Given the description of an element on the screen output the (x, y) to click on. 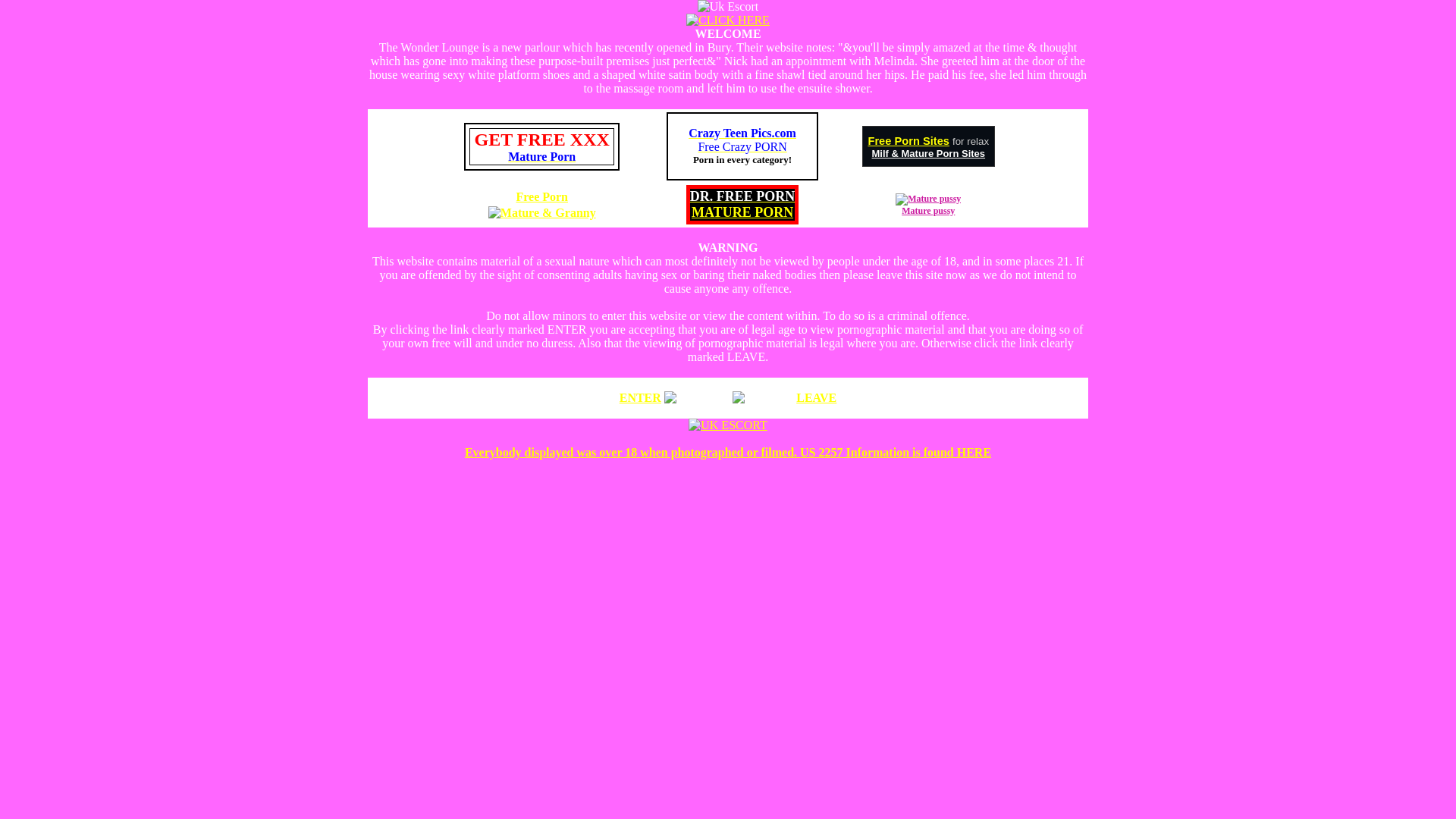
Free Porn (742, 139)
Free Porn Sites (541, 195)
free older mature porn links (908, 141)
Free sex pictures (541, 155)
ENTER (742, 196)
DR. FREE PORN (640, 397)
MATURE PORN (742, 196)
Mature pussy (742, 212)
